Given the description of an element on the screen output the (x, y) to click on. 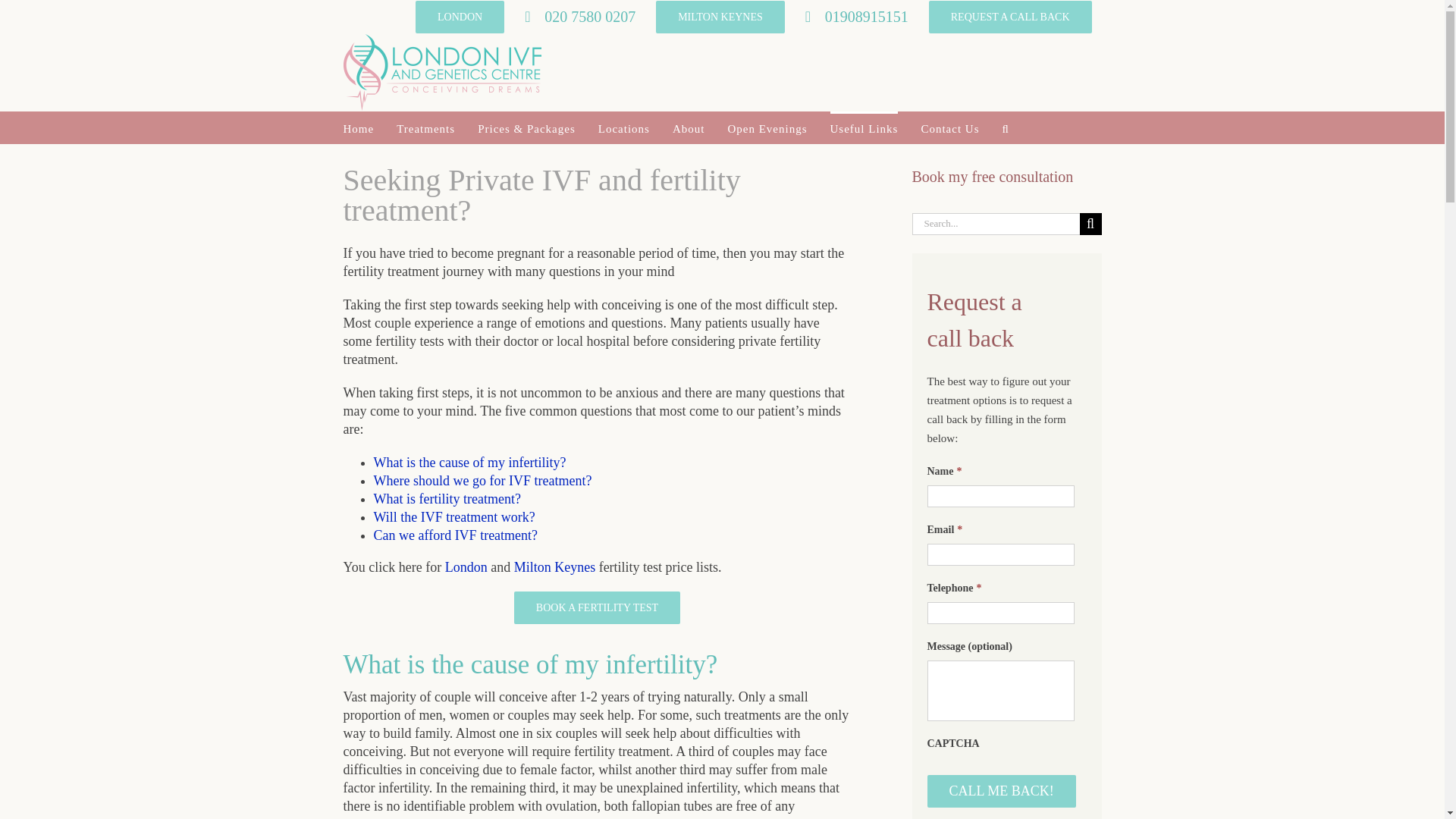
LONDON (459, 16)
Treatments (425, 127)
01908915151 (856, 16)
Home (358, 127)
MILTON KEYNES (720, 16)
020 7580 0207 (580, 16)
Call me back! (1000, 790)
REQUEST A CALL BACK (1010, 16)
